Given the description of an element on the screen output the (x, y) to click on. 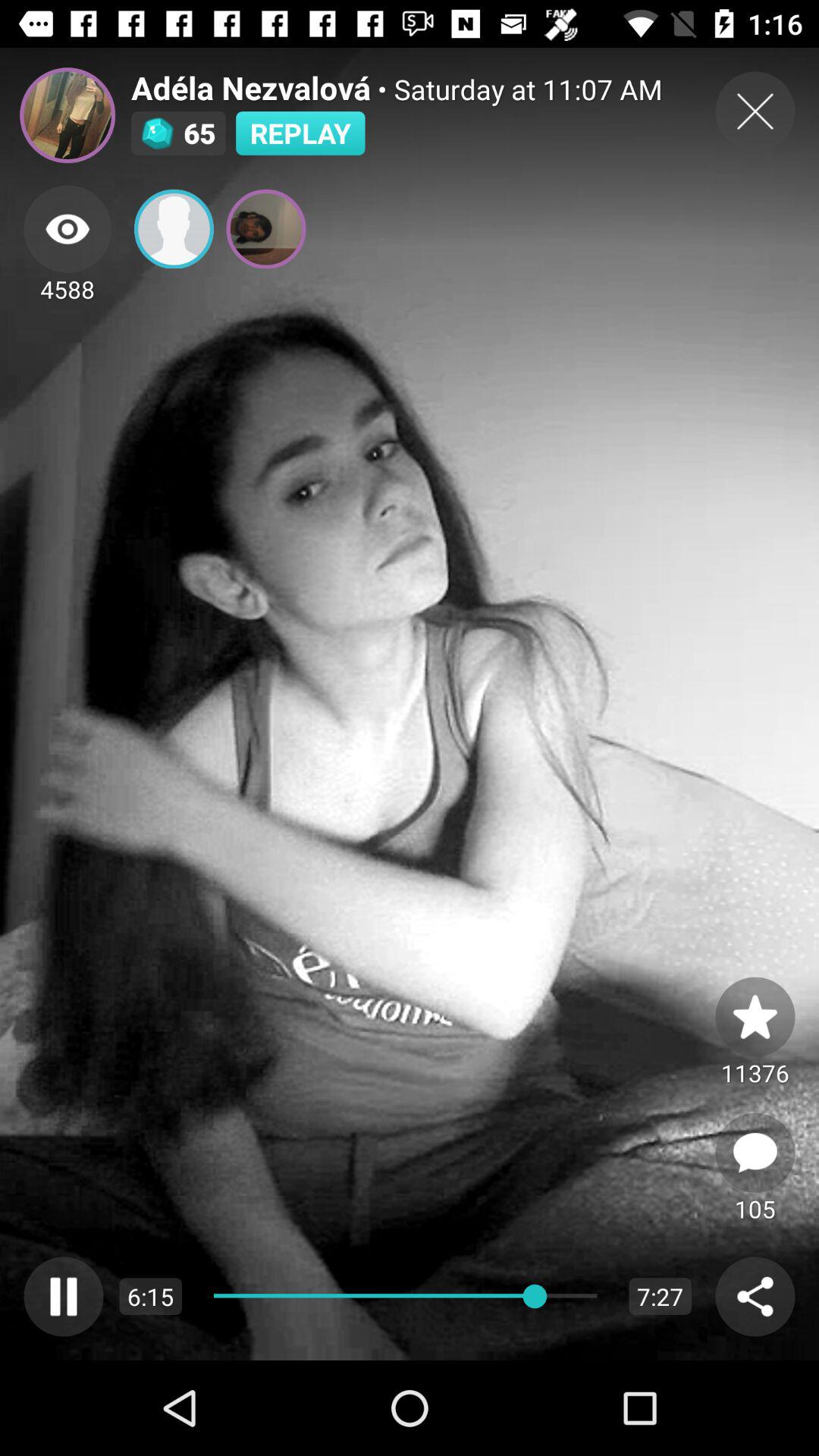
pause (63, 1296)
